Given the description of an element on the screen output the (x, y) to click on. 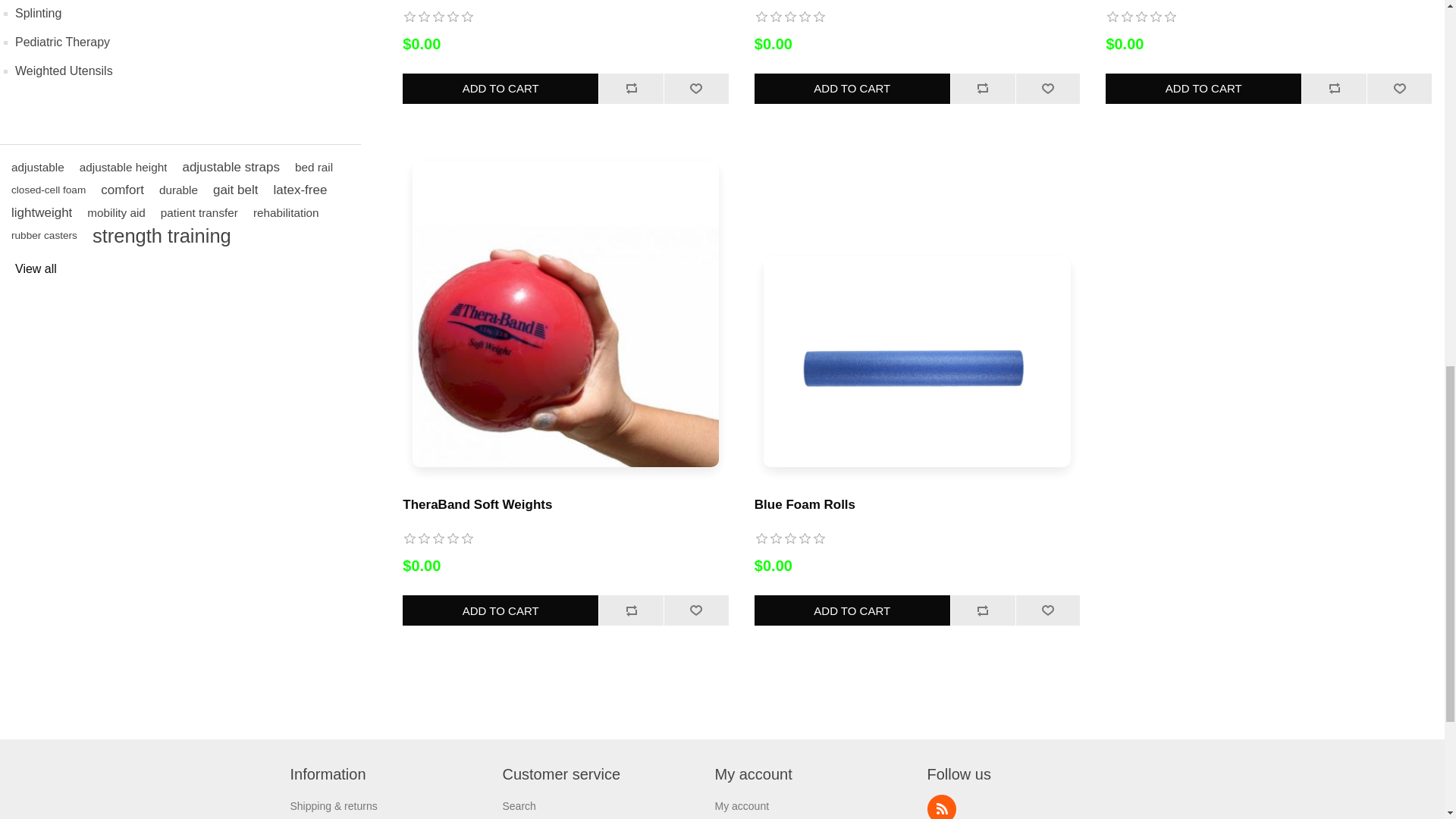
Add to compare list (982, 88)
Add to compare list (630, 88)
Add to wishlist (1399, 88)
Add to compare list (1334, 88)
Add to wishlist (1047, 88)
Add to wishlist (696, 88)
